Given the description of an element on the screen output the (x, y) to click on. 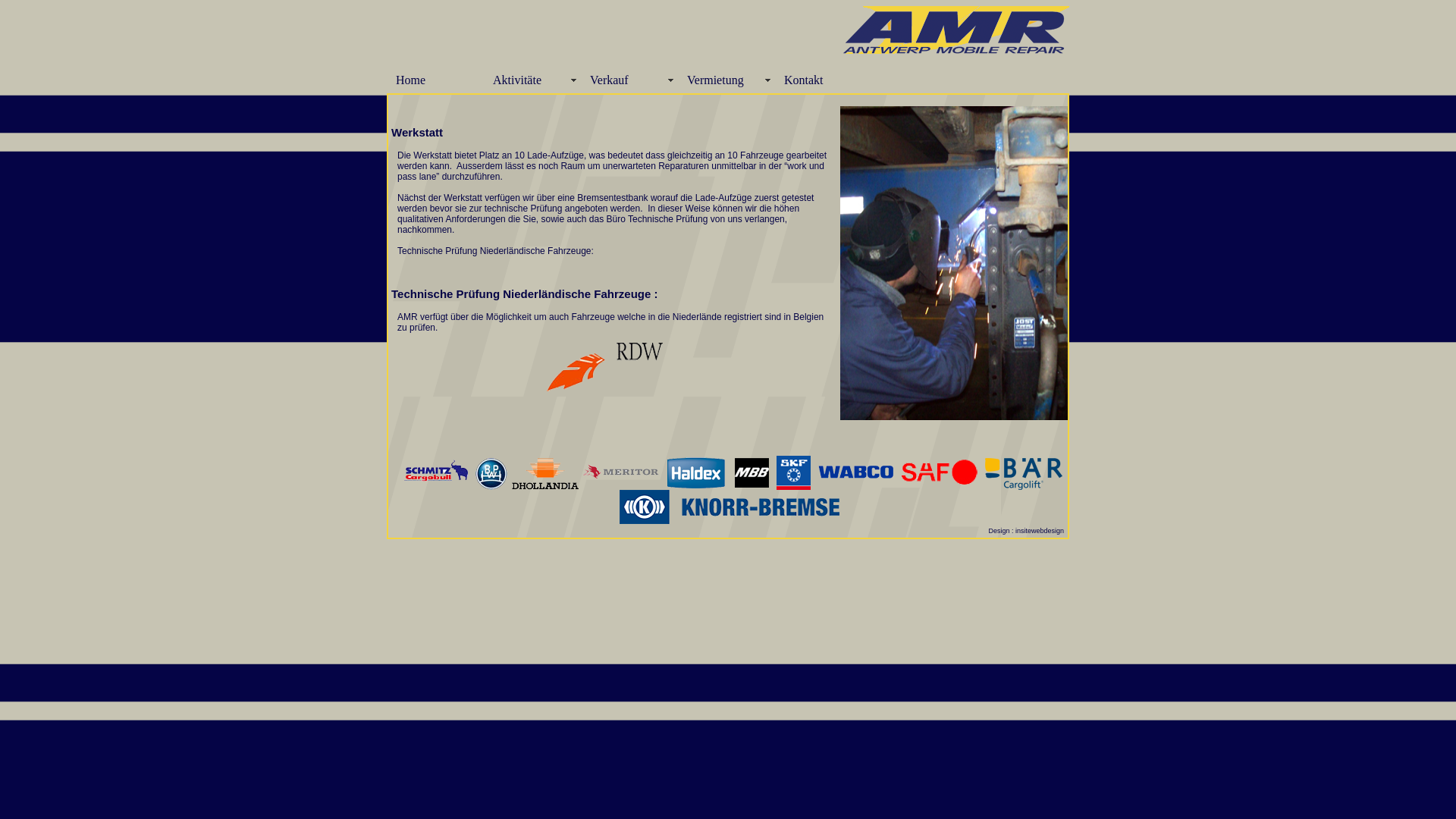
Kontakt Element type: text (823, 80)
Home Element type: text (434, 80)
Vermietung Element type: text (726, 80)
Verkauf Element type: text (628, 80)
insitewebdesign Element type: text (1039, 530)
